Given the description of an element on the screen output the (x, y) to click on. 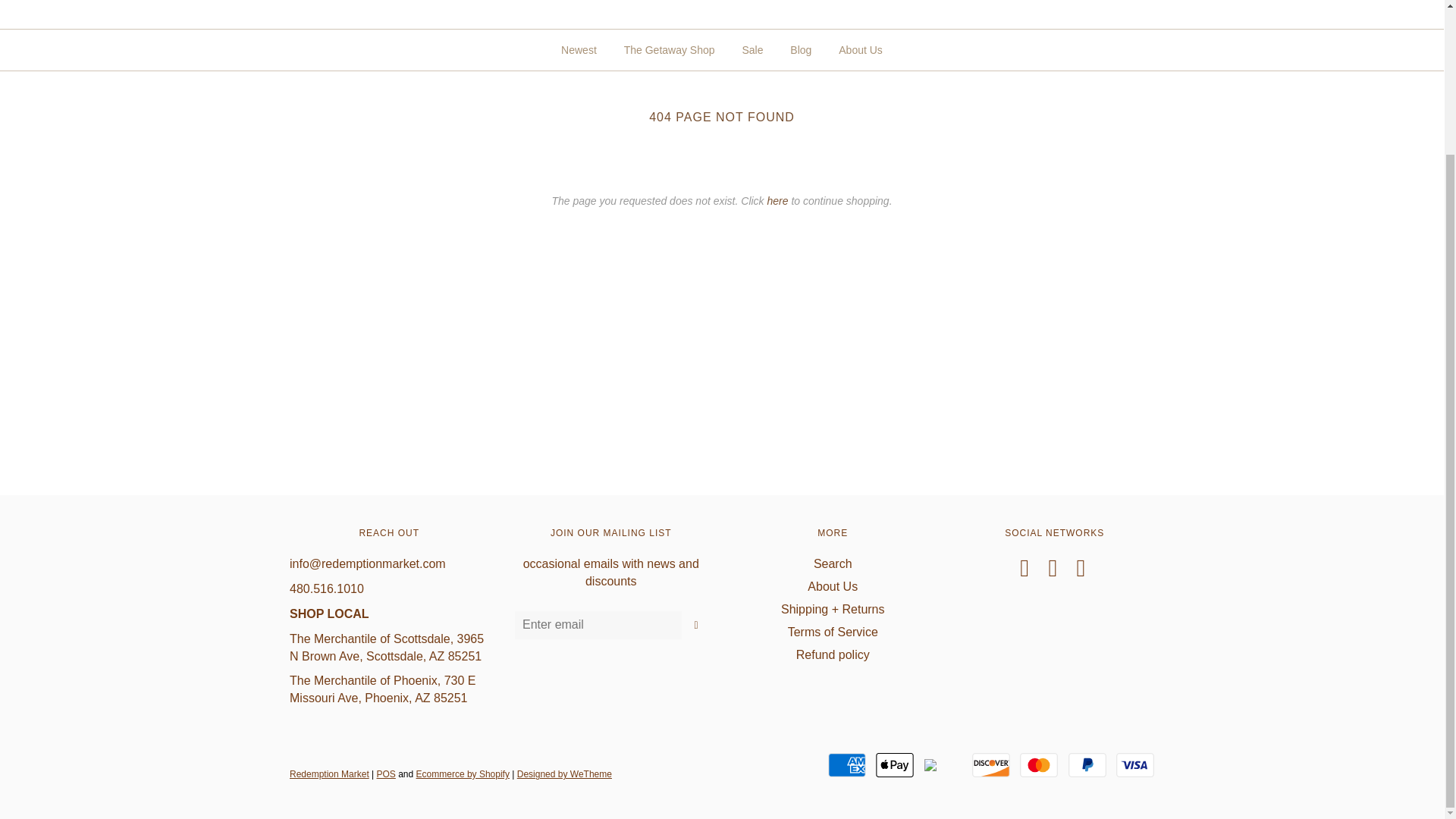
The Getaway Shop (669, 49)
Redemption Market (329, 774)
Ecommerce by Shopify (462, 774)
POS (386, 774)
Designed by WeTheme (563, 774)
About Us (860, 49)
Designed by WeTheme (563, 774)
Blog (800, 49)
Terms of Service (832, 631)
About Us (832, 585)
Newest (579, 49)
Refund policy (832, 654)
here (778, 200)
Search (832, 563)
Sale (752, 49)
